Given the description of an element on the screen output the (x, y) to click on. 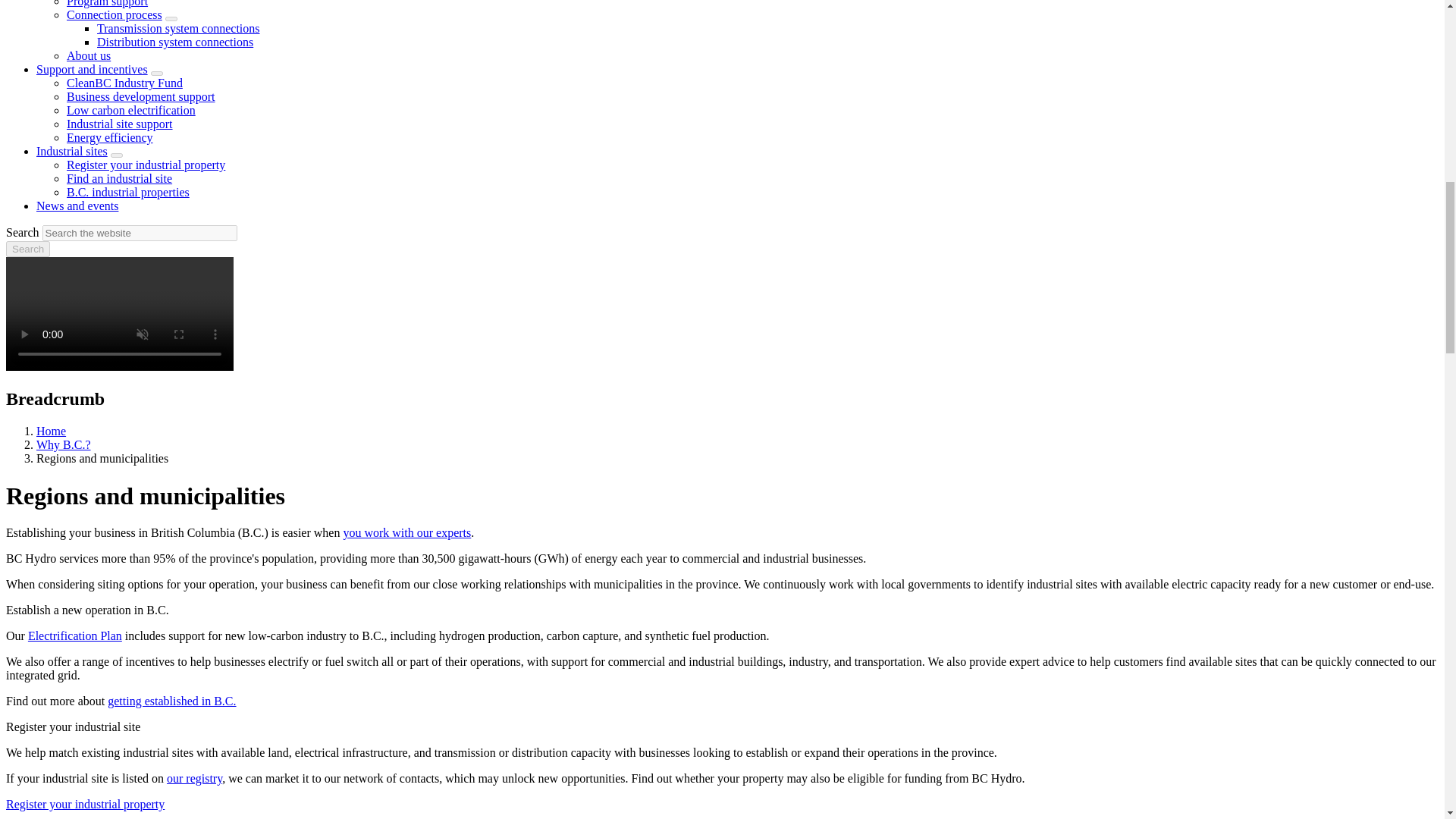
Establishing new operations (171, 700)
B.C. industrial properties (194, 778)
Register your industrial property (84, 803)
Search (27, 248)
Contact us (406, 532)
